Given the description of an element on the screen output the (x, y) to click on. 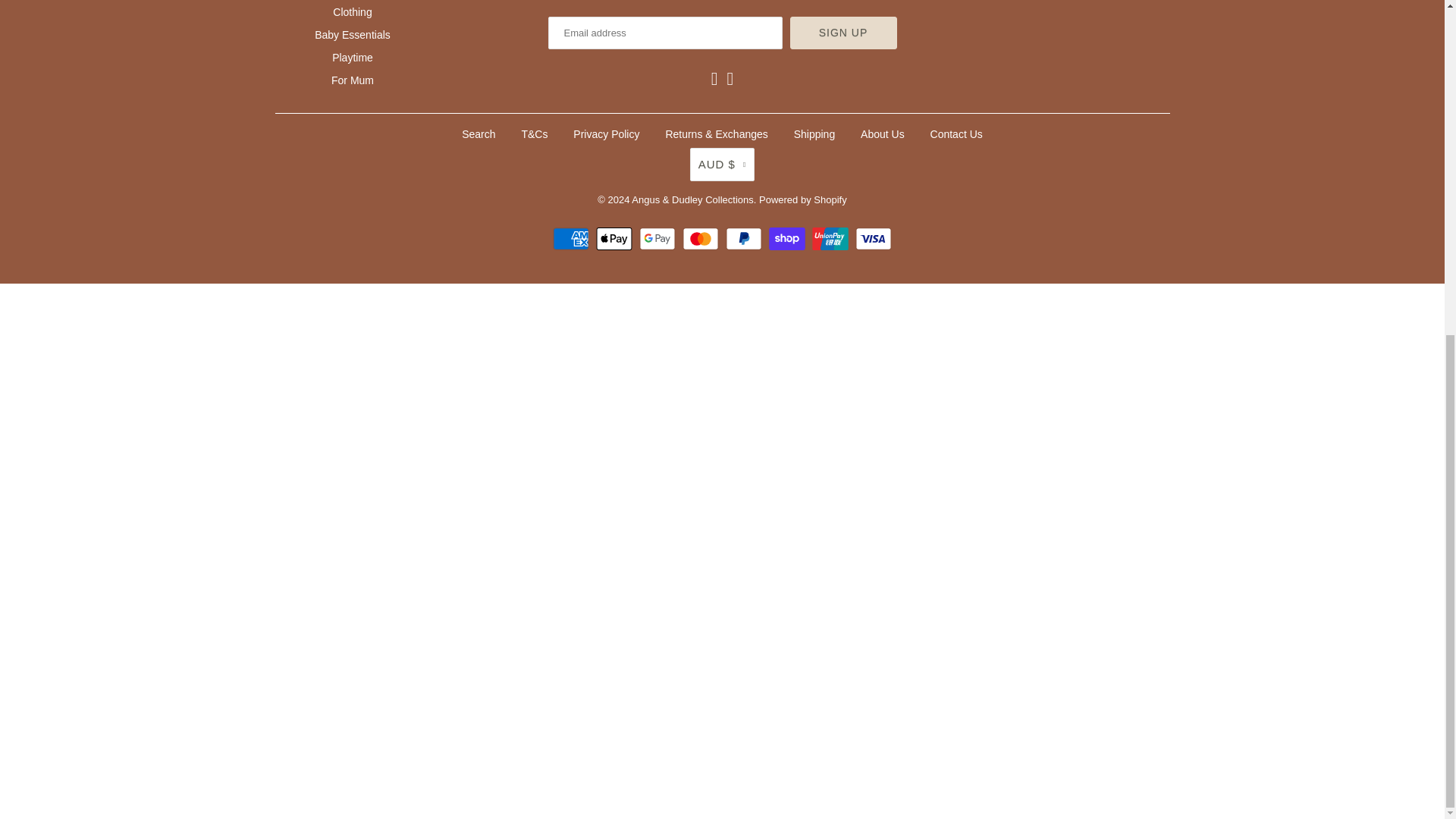
American Express (572, 238)
Visa (873, 238)
Union Pay (831, 238)
Shop Pay (788, 238)
PayPal (745, 238)
Mastercard (702, 238)
Google Pay (659, 238)
Sign Up (843, 32)
Apple Pay (615, 238)
